Given the description of an element on the screen output the (x, y) to click on. 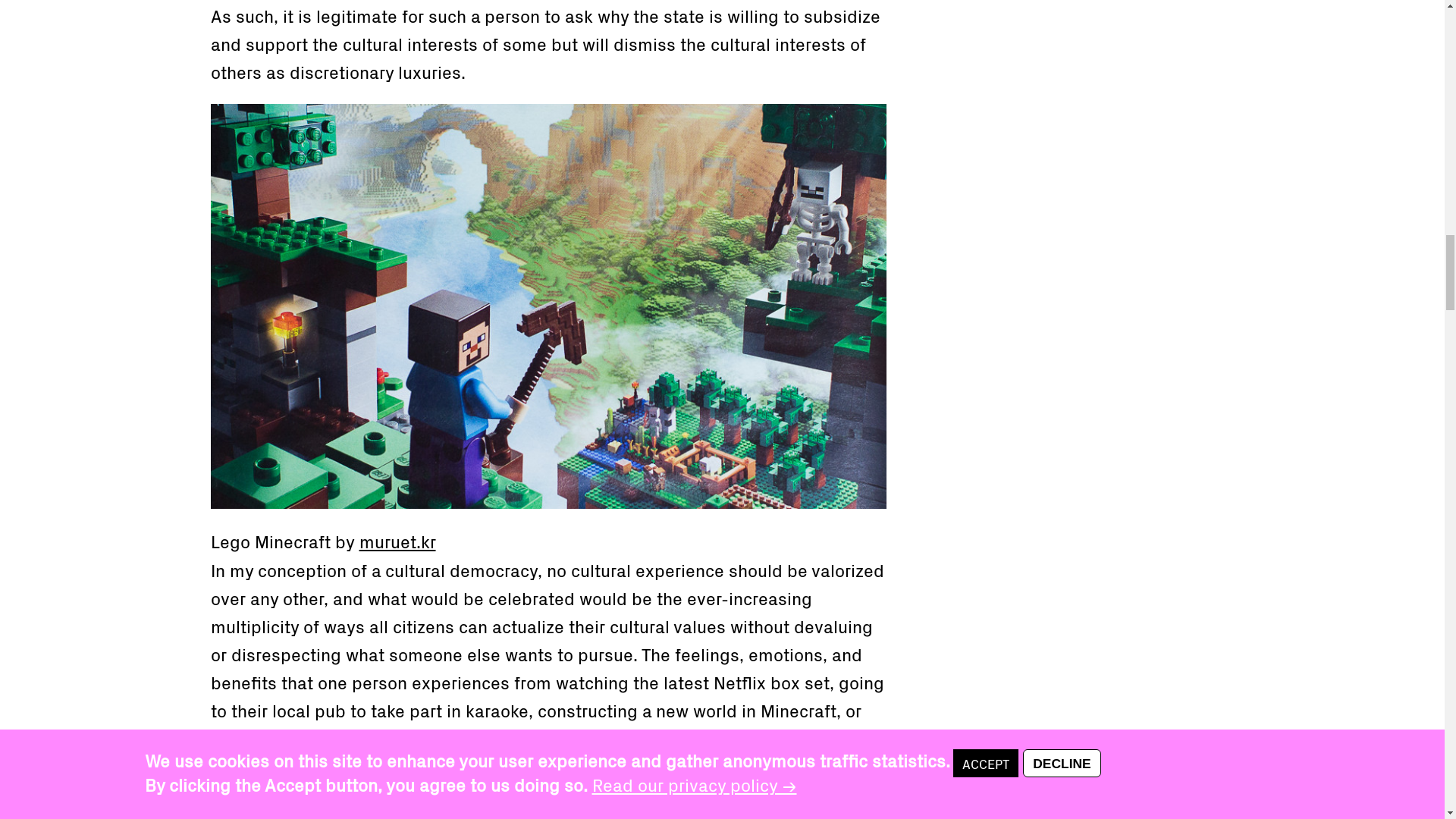
muruet.kr (397, 540)
